Given the description of an element on the screen output the (x, y) to click on. 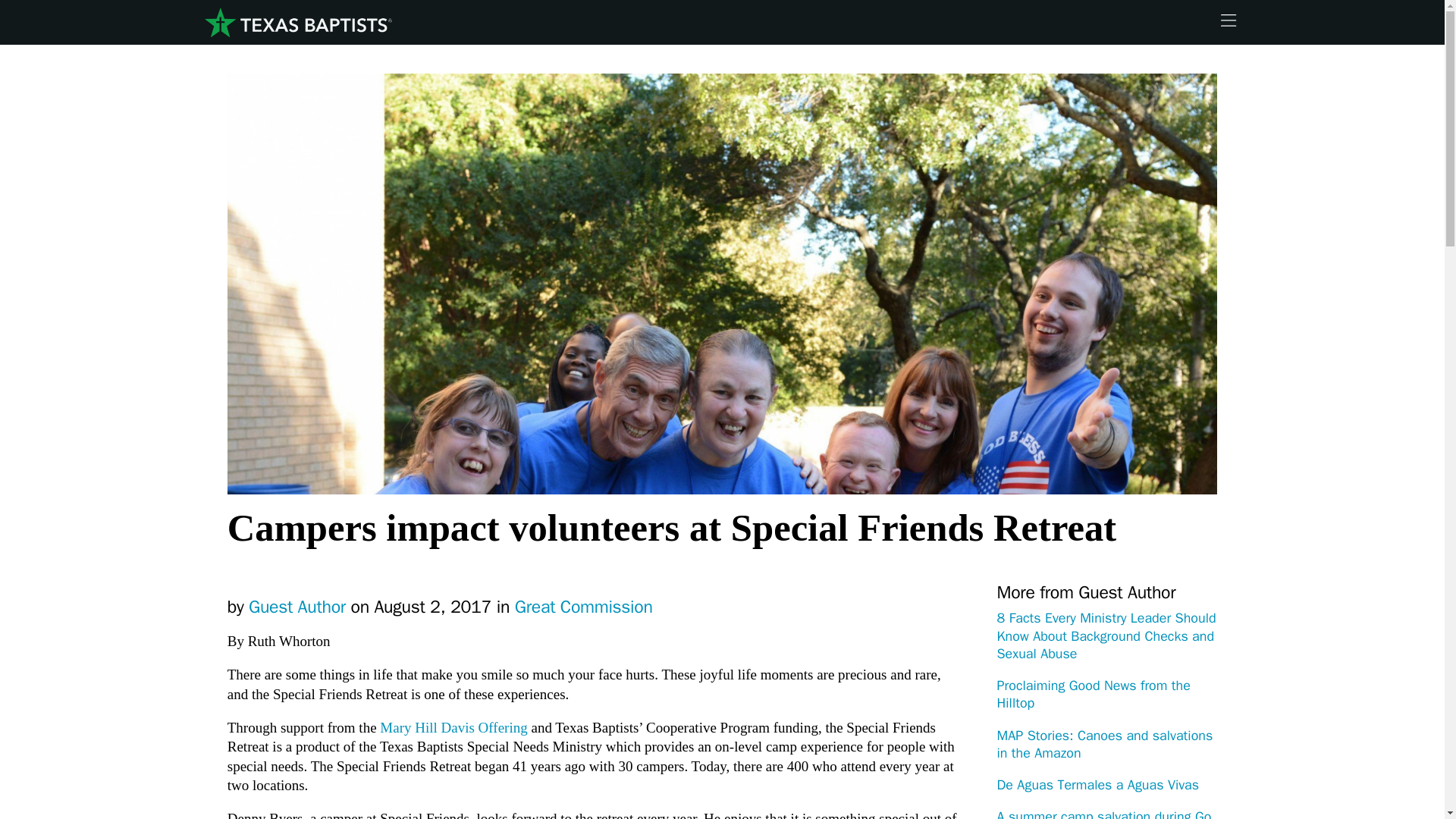
Proclaiming Good News from the Hilltop (1092, 694)
Guest Author (297, 607)
Home (297, 22)
De Aguas Termales a Aguas Vivas (1096, 784)
Mary Hill Davis Offering (453, 727)
A summer camp salvation during Go Now Missions (1103, 813)
Great Commission (583, 607)
MAP Stories: Canoes and salvations in the Amazon (1103, 744)
